Given the description of an element on the screen output the (x, y) to click on. 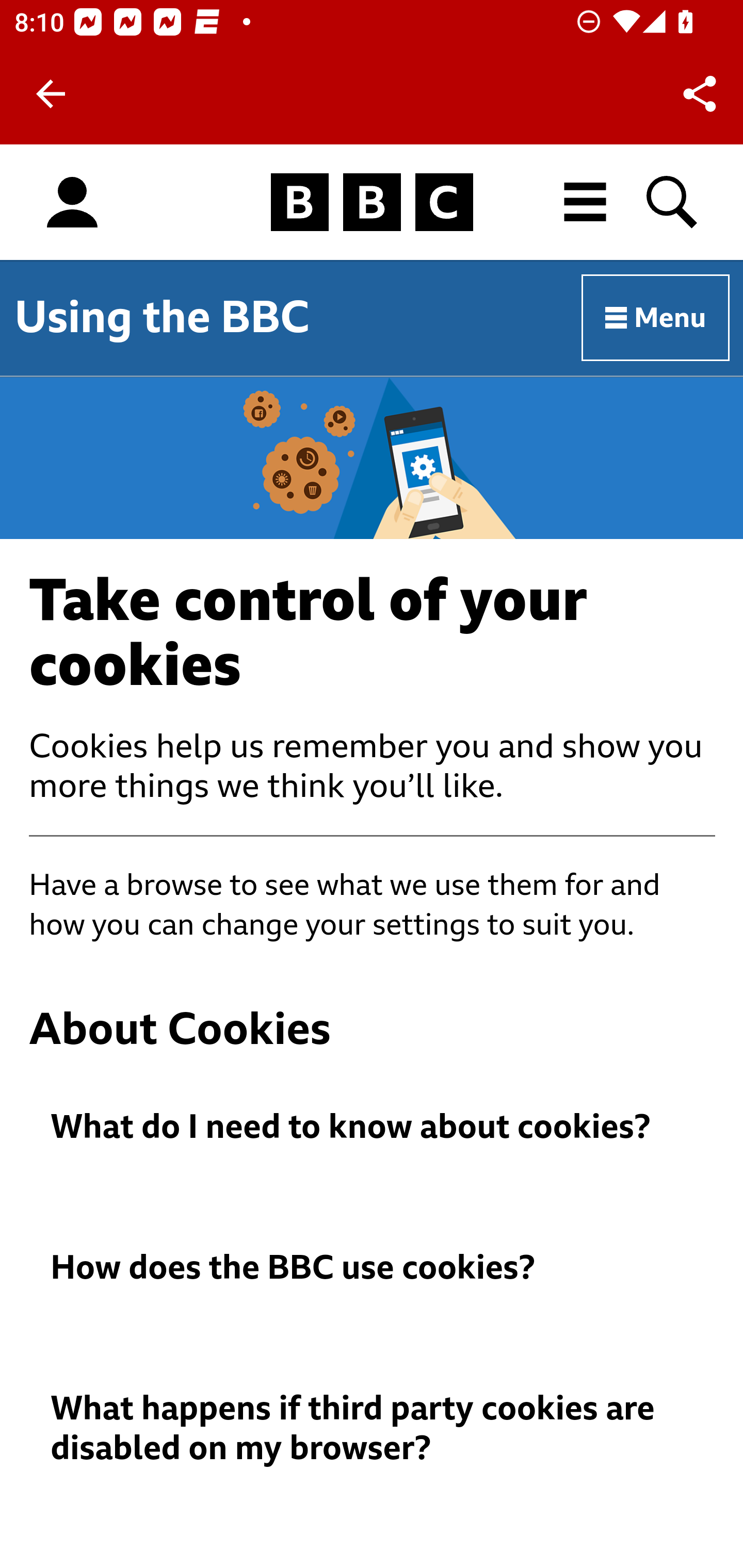
Back (50, 93)
Share (699, 93)
All BBC destinations menu (585, 202)
Search BBC (672, 202)
Sign in (71, 203)
Homepage (371, 203)
Menu (656, 318)
Using the BBC (162, 317)
What do I need to know about cookies? (372, 1127)
How does the BBC use cookies? (372, 1267)
